Given the description of an element on the screen output the (x, y) to click on. 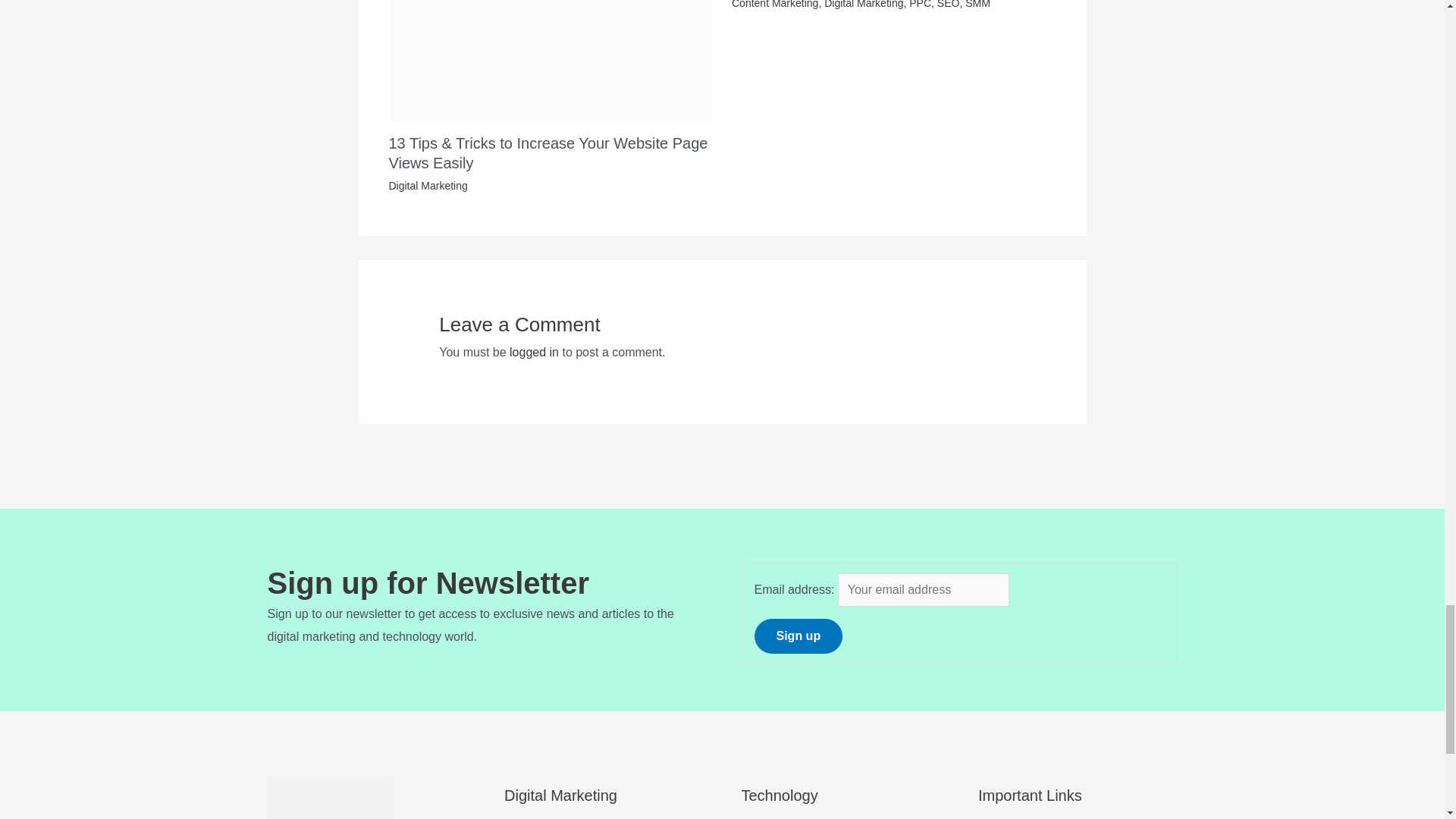
Sign up (798, 636)
